Given the description of an element on the screen output the (x, y) to click on. 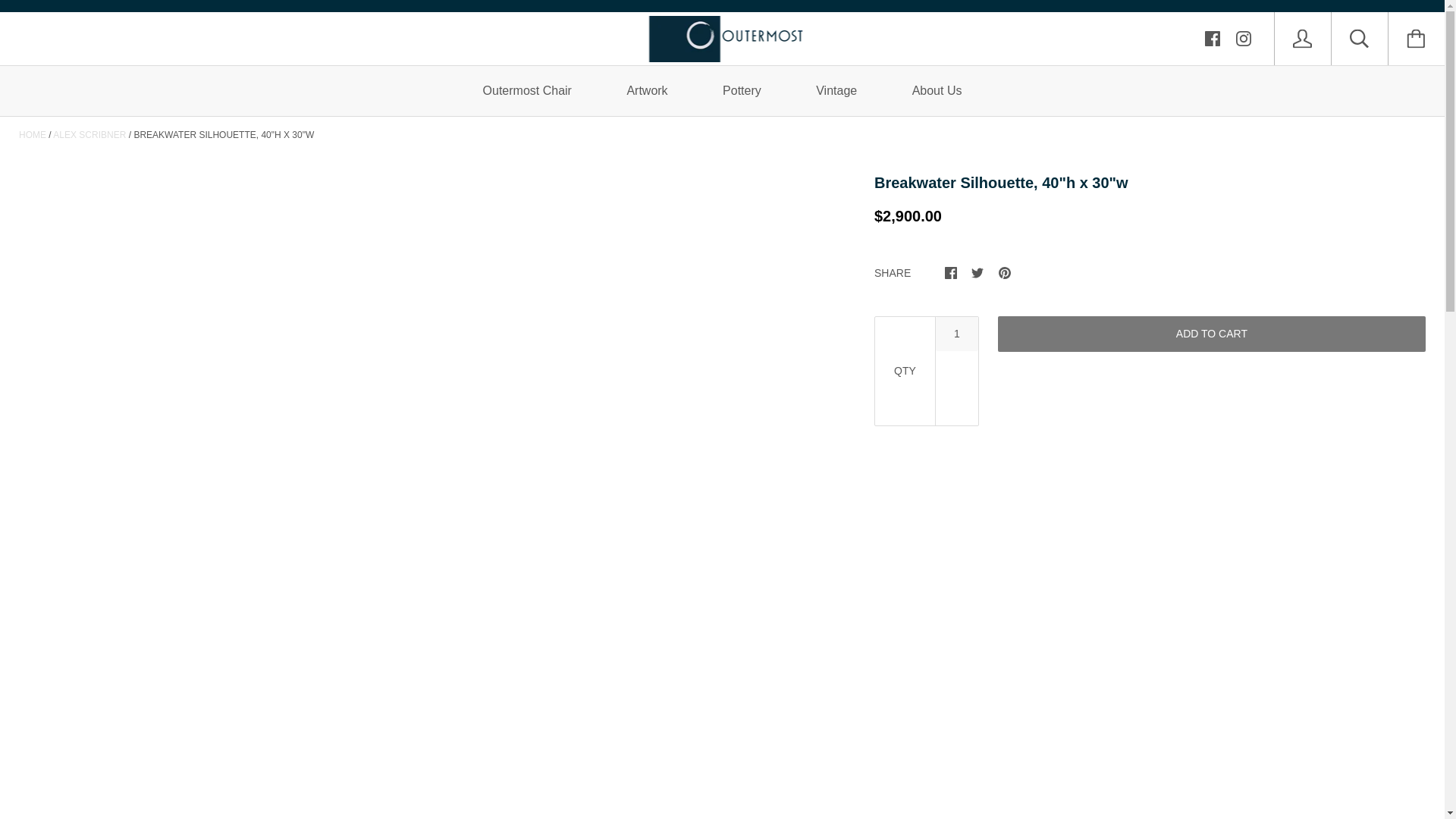
HOME (32, 134)
Pottery (742, 91)
About Us (937, 91)
Outermost Chair (526, 91)
ADD TO CART (1211, 334)
Vintage (836, 91)
ALEX SCRIBNER (88, 134)
Artwork (646, 91)
1 (957, 333)
